Given the description of an element on the screen output the (x, y) to click on. 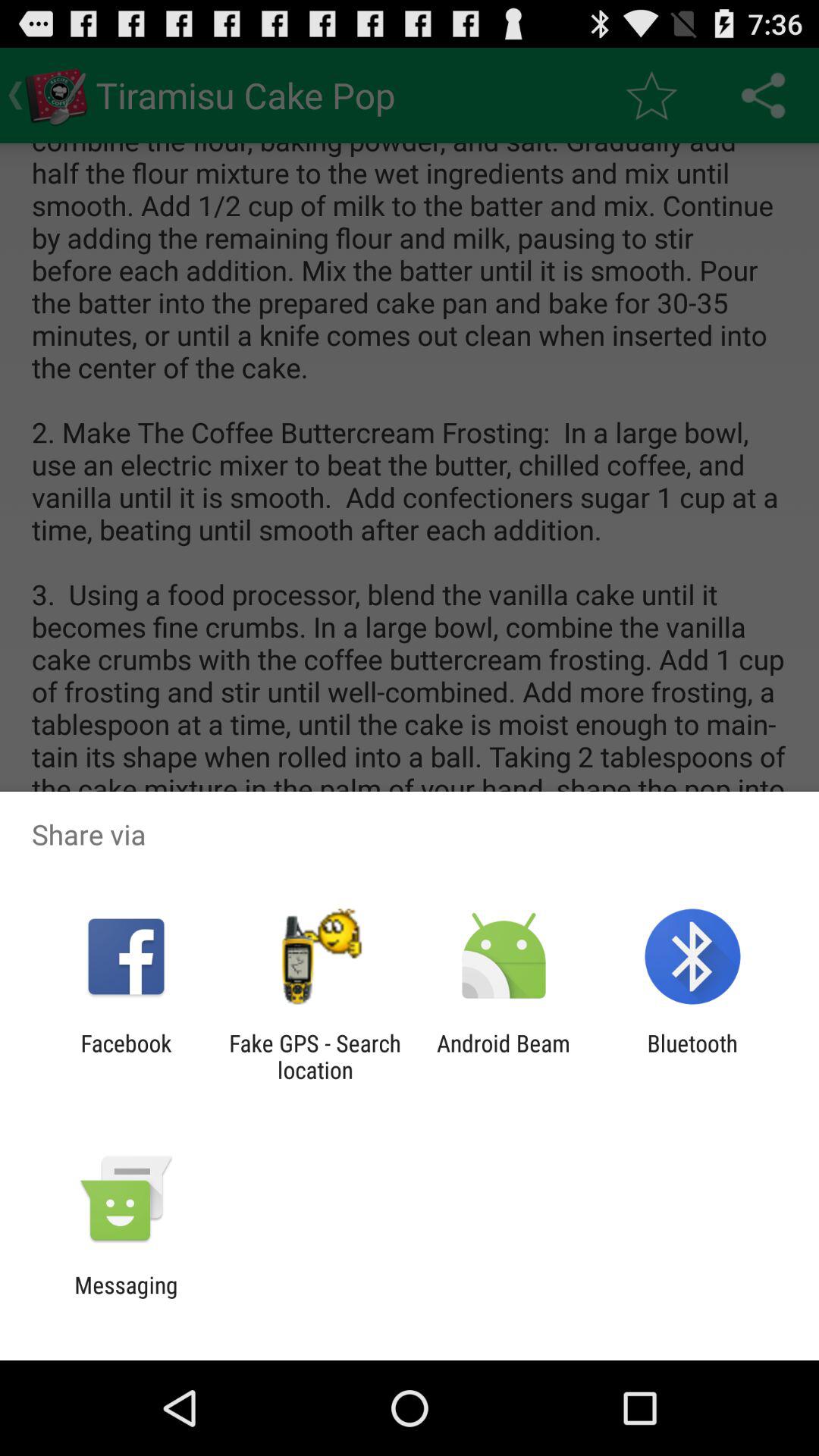
flip to android beam item (503, 1056)
